Given the description of an element on the screen output the (x, y) to click on. 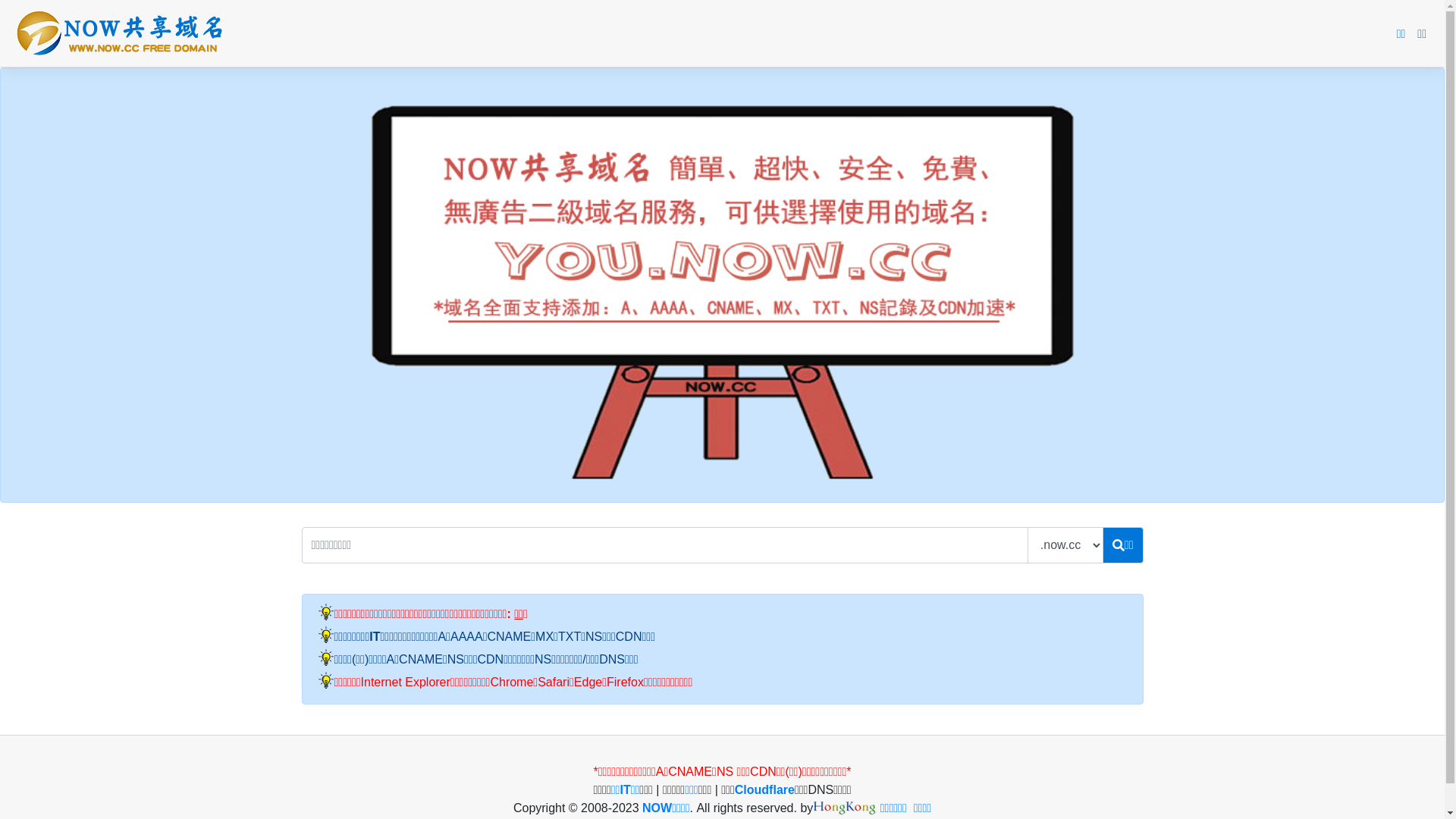
Cloudflare Element type: text (764, 789)
